Given the description of an element on the screen output the (x, y) to click on. 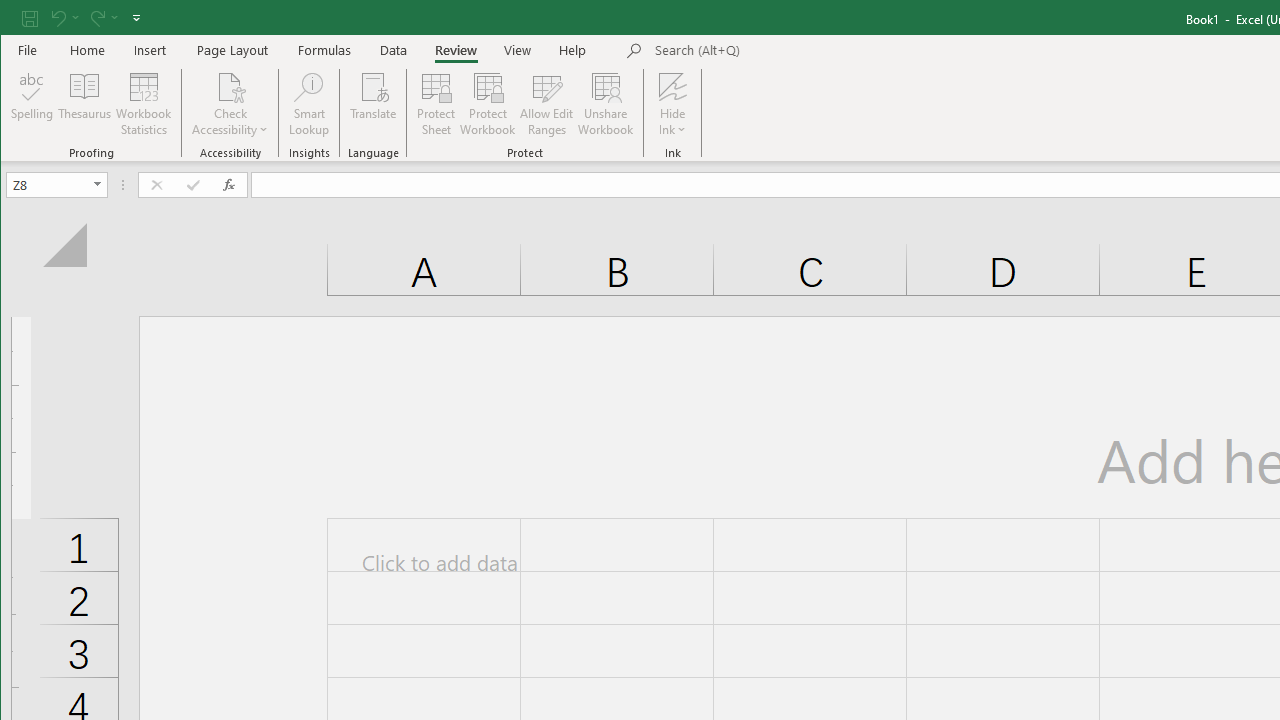
Thesaurus... (84, 104)
Protect Sheet... (436, 104)
Undo (63, 17)
Name Box (56, 184)
Undo (57, 17)
System (18, 18)
Check Accessibility (230, 86)
Translate (373, 104)
Data (394, 50)
Hide Ink (672, 104)
Home (87, 50)
Formulas (325, 50)
Name Box (48, 184)
Review (456, 50)
System (18, 18)
